Given the description of an element on the screen output the (x, y) to click on. 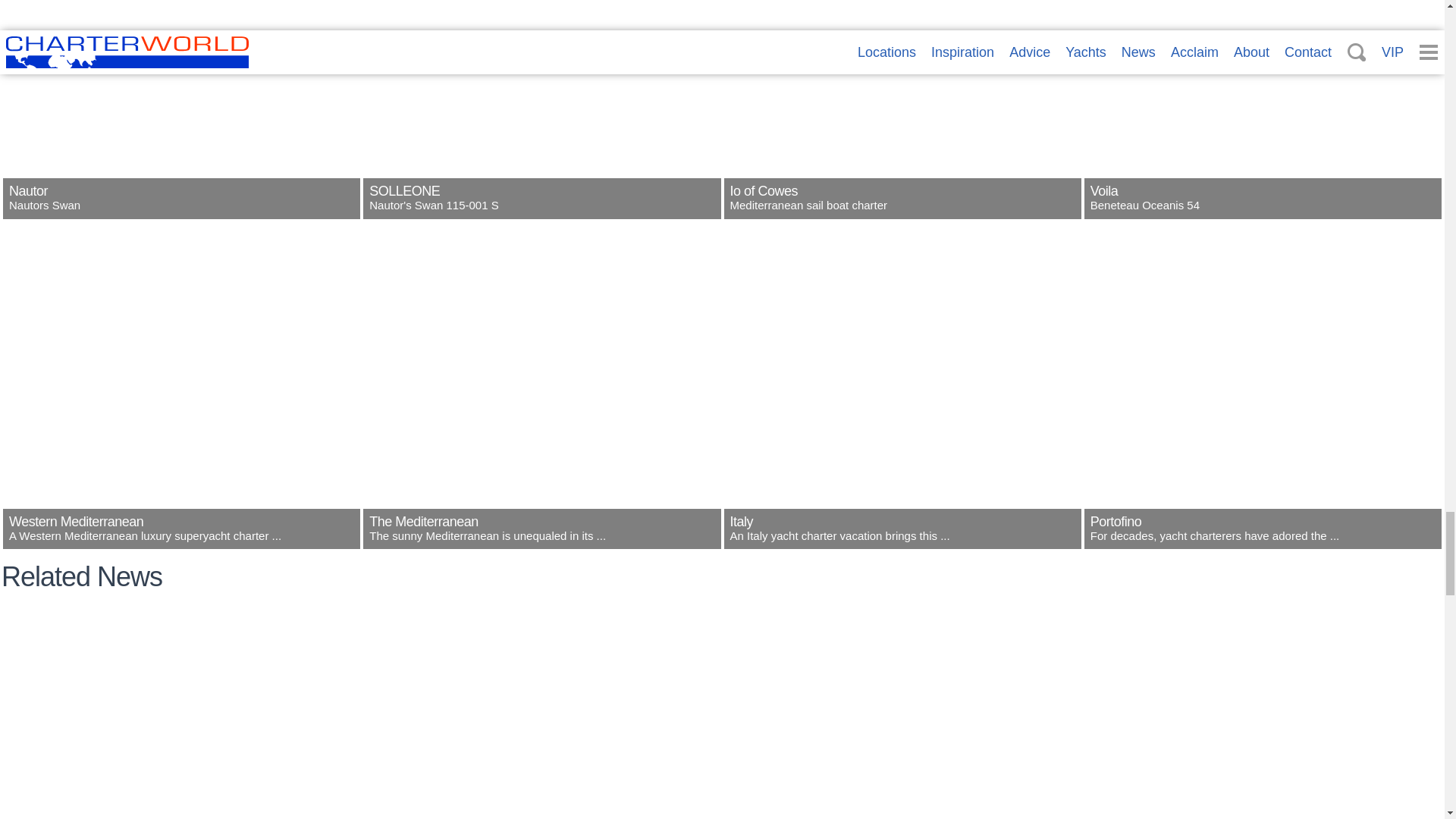
Io of Cowes (901, 209)
Nautor (180, 209)
Voila (1262, 209)
The Mediterranean (541, 539)
SOLLEONE (541, 209)
Western Mediterranean (180, 539)
